Given the description of an element on the screen output the (x, y) to click on. 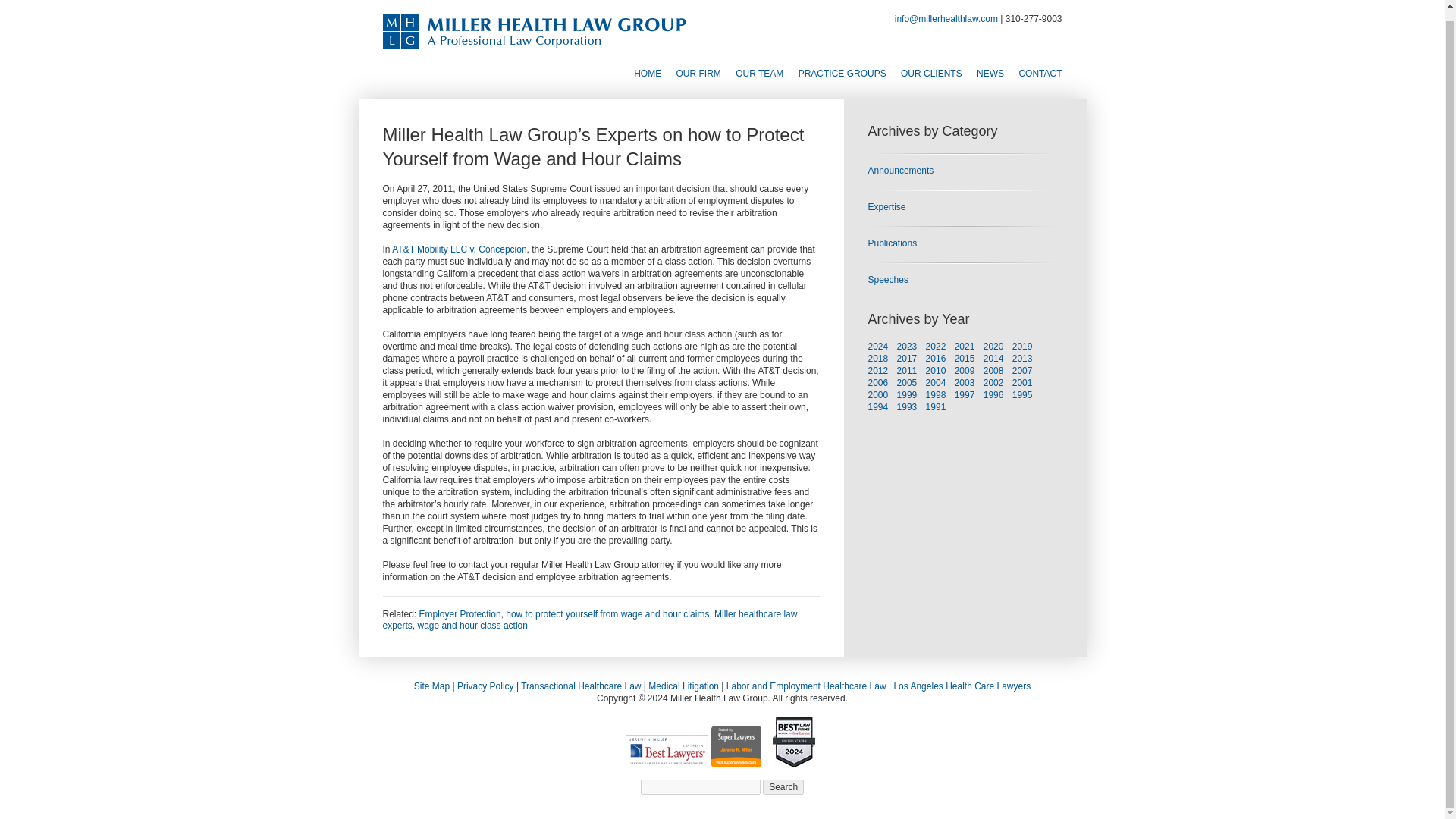
OUR FIRM (697, 74)
how to protect yourself from wage and hour claims (607, 613)
Site Map (431, 685)
wage and hour class action (472, 624)
Employer Protection (459, 613)
Transactional and Compliance (580, 685)
JNM Listed Lawyer Best Lawyer (666, 750)
HOME (646, 74)
Privacy (485, 685)
Litigation (683, 685)
